Given the description of an element on the screen output the (x, y) to click on. 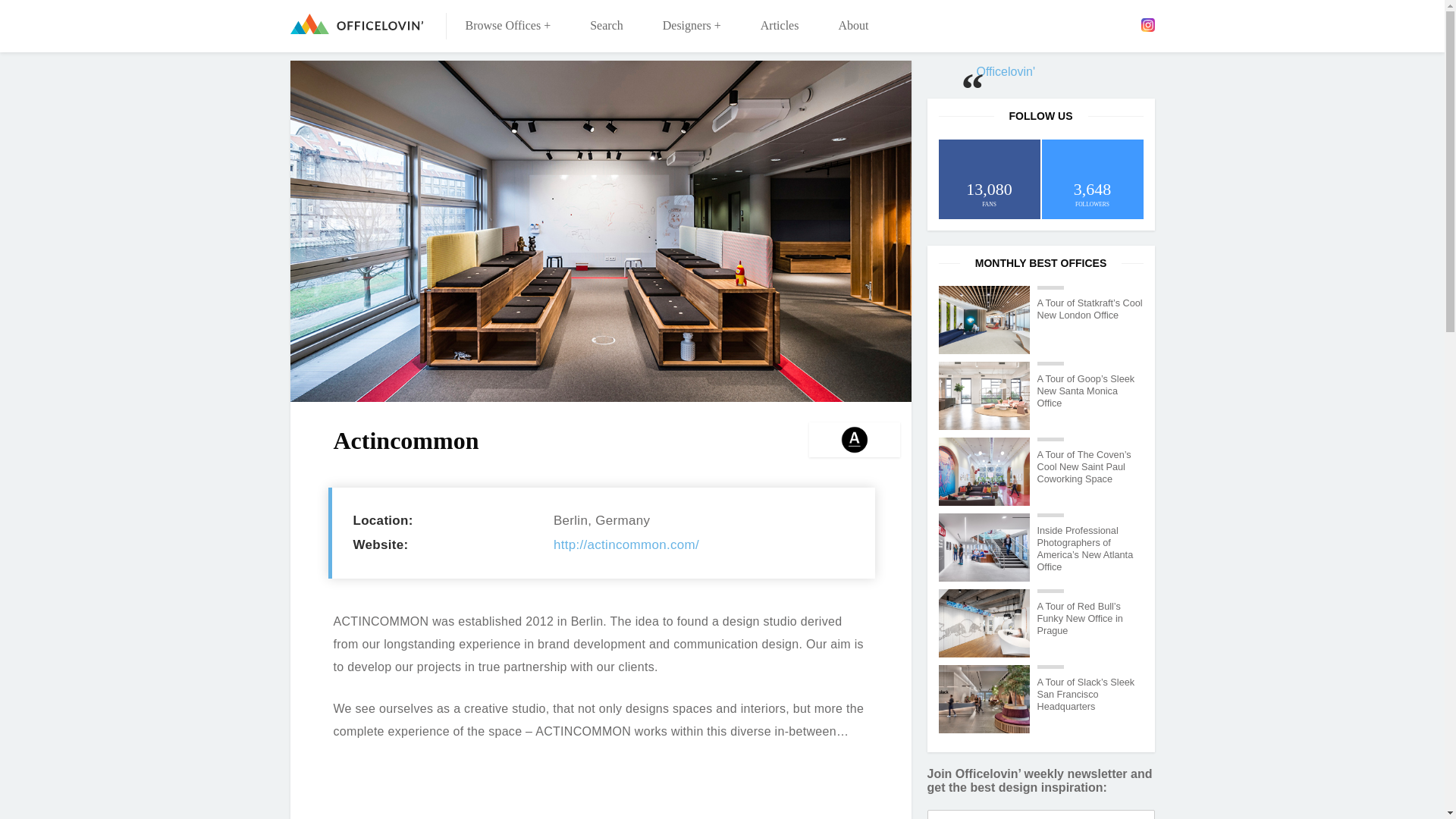
Officelovin on Twitter (1082, 24)
Advertisement (601, 796)
Officelovin on LinkedIn (1102, 24)
Officelovin on Facebook (1058, 24)
Officelovin on Instagram (1147, 24)
Officelovin on Pinterest (1125, 24)
Search (606, 25)
